Given the description of an element on the screen output the (x, y) to click on. 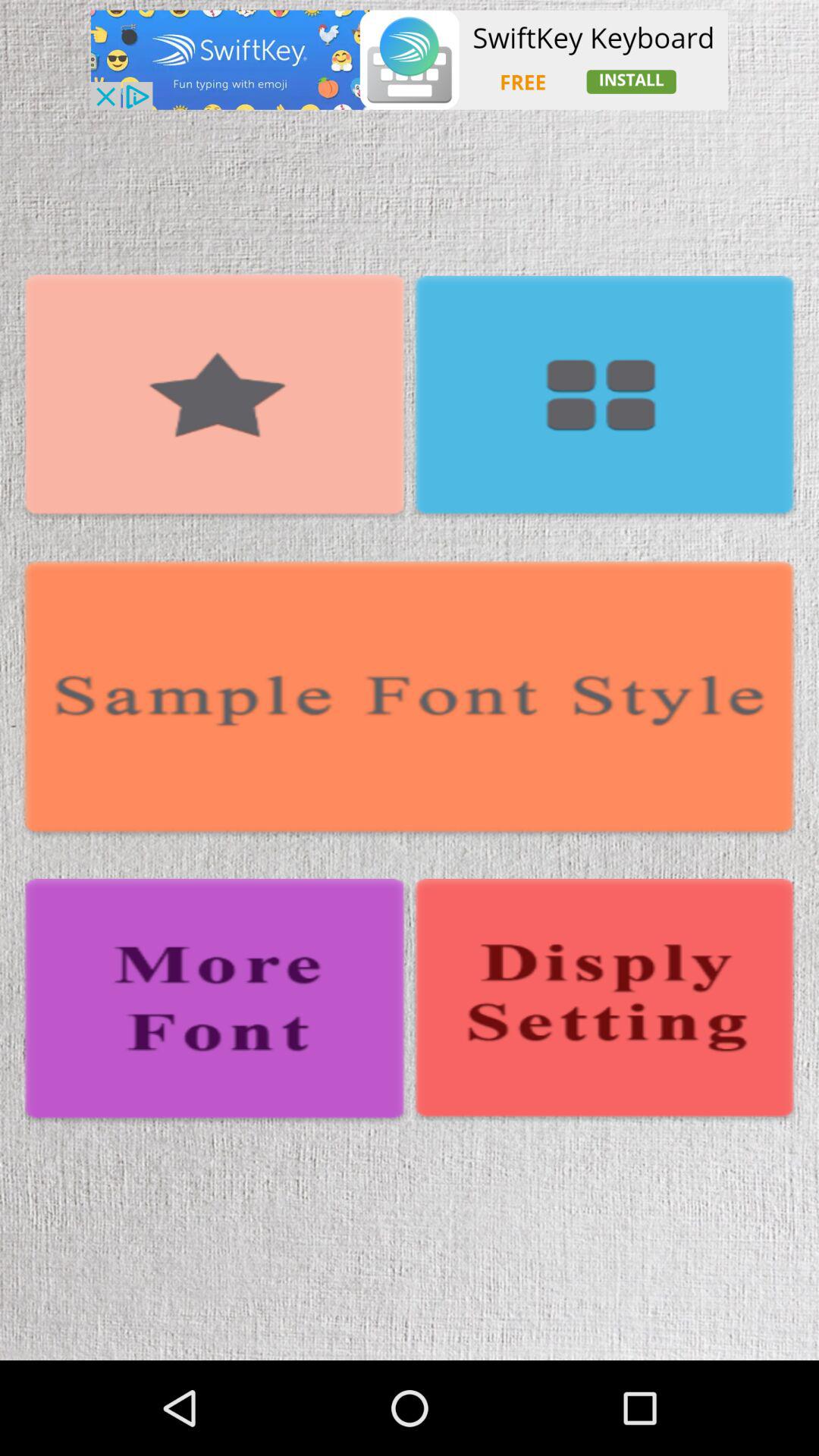
view more fonts (214, 1001)
